Given the description of an element on the screen output the (x, y) to click on. 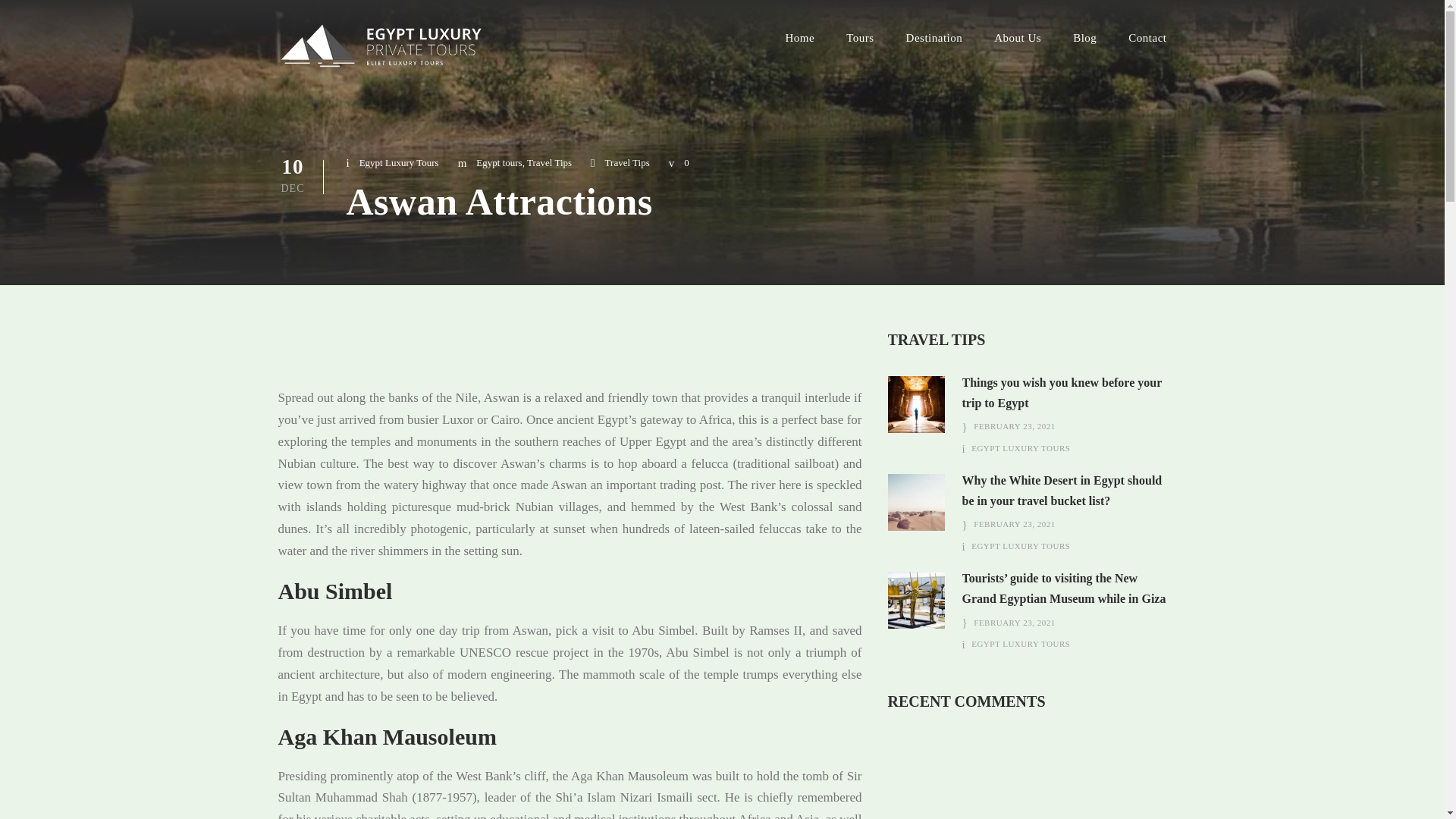
Destination (933, 43)
Egypt tours (498, 162)
Posts by Egypt Luxury Tours (1020, 545)
122 (916, 502)
FEBRUARY 23, 2021 (1014, 622)
Egypt Luxury Tours (399, 162)
EGYPT LUXURY TOURS (1020, 545)
egyptluxuryprivatetours-logo-new-2022 (380, 44)
EGYPT LUXURY TOURS (1020, 447)
